Given the description of an element on the screen output the (x, y) to click on. 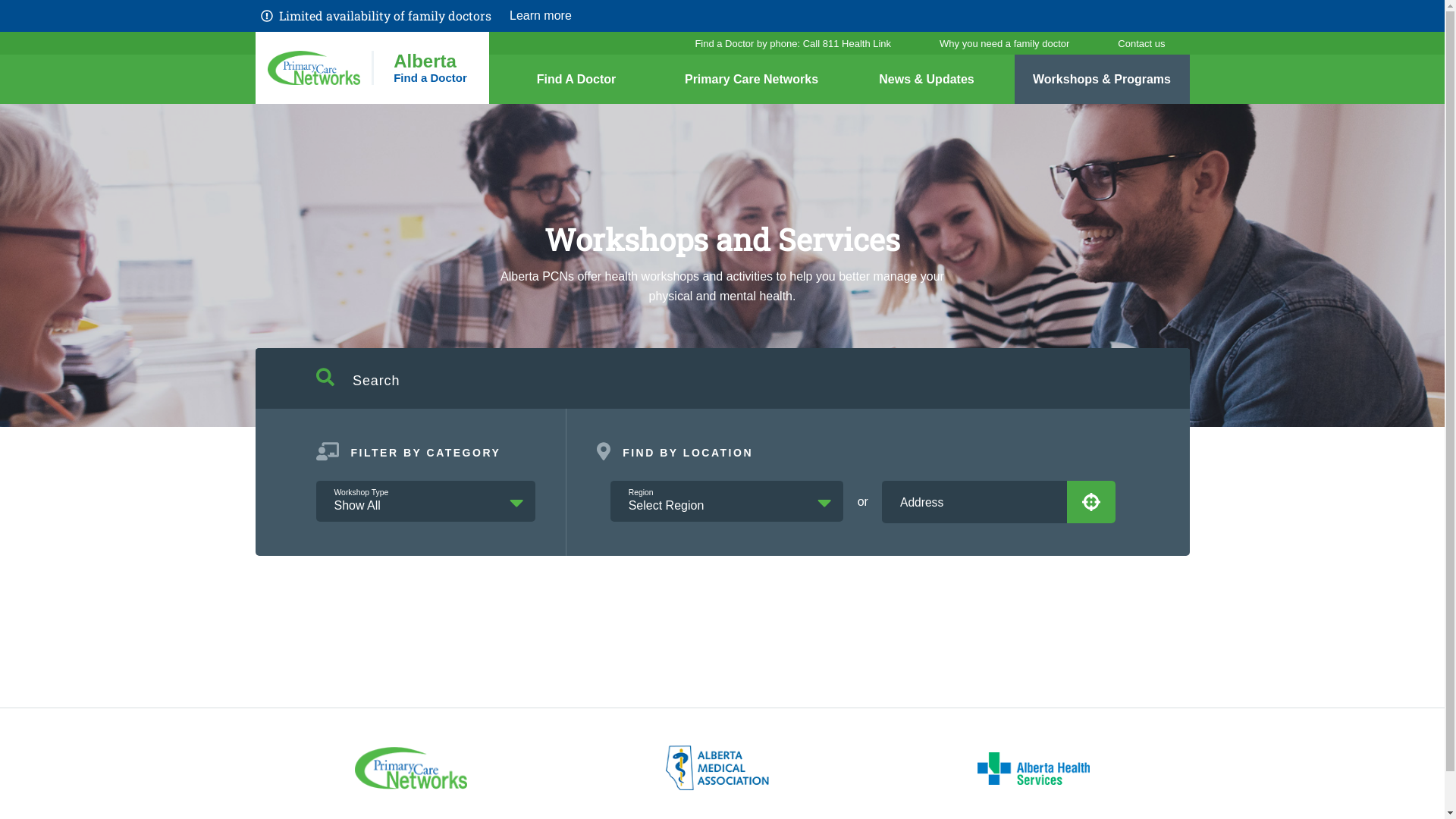
Contact us Element type: text (1141, 42)
Workshops & Programs Element type: text (1101, 78)
Why you need a family doctor Element type: text (1004, 42)
Find a Doctor by phone: Call 811 Health Link Element type: text (792, 42)
News & Updates Element type: text (925, 78)
Primary Care Networks Element type: text (751, 78)
Limited availability of family doctors
Learn more Element type: text (722, 15)
Find A Doctor Element type: text (575, 78)
Alberta
Find a Doctor Element type: text (371, 67)
